Given the description of an element on the screen output the (x, y) to click on. 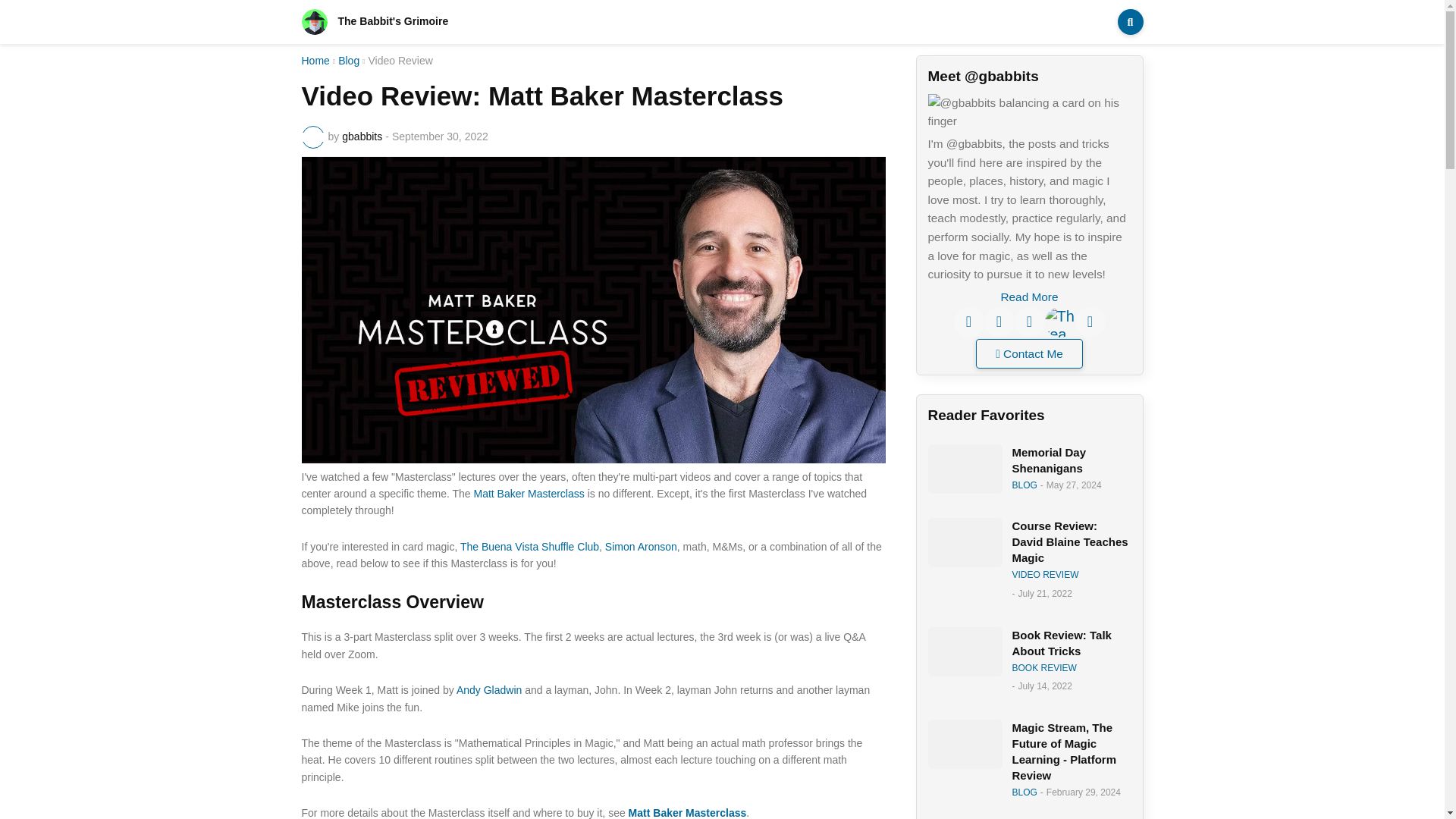
The Babbit's Grimoire (374, 22)
Video Review (400, 60)
Andy Gladwin (489, 689)
Simon Aronson (641, 546)
Andy Gladwin (489, 689)
The Buena Vista Shuffle Club (529, 546)
The Buena Vista Shuffle Club (529, 546)
Matt Baker Masterclass (528, 493)
Matt Baker Masterclass (528, 493)
Home (315, 60)
